Given the description of an element on the screen output the (x, y) to click on. 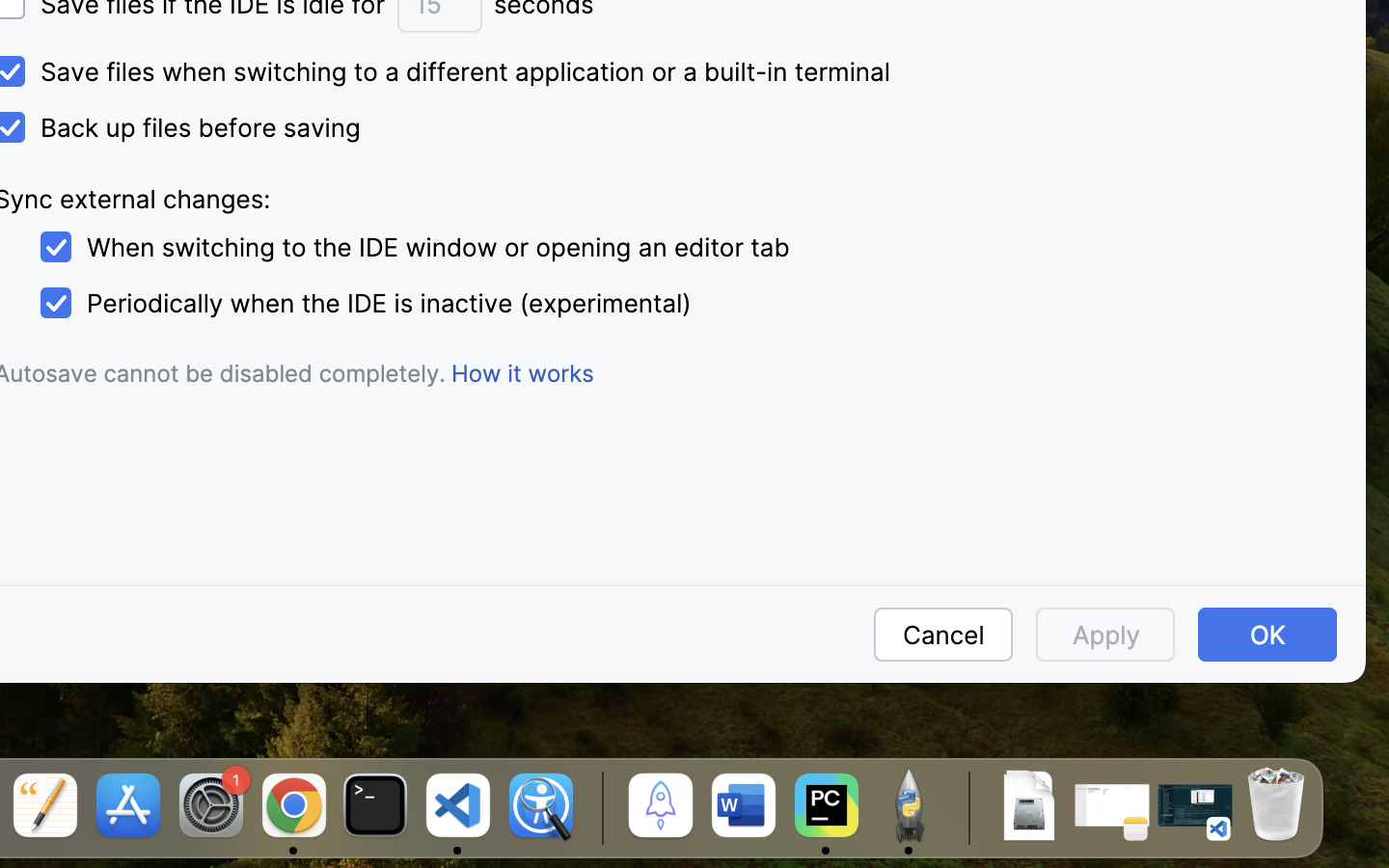
0.4285714328289032 Element type: AXDockItem (598, 807)
1 Element type: AXCheckBox (410, 247)
